Given the description of an element on the screen output the (x, y) to click on. 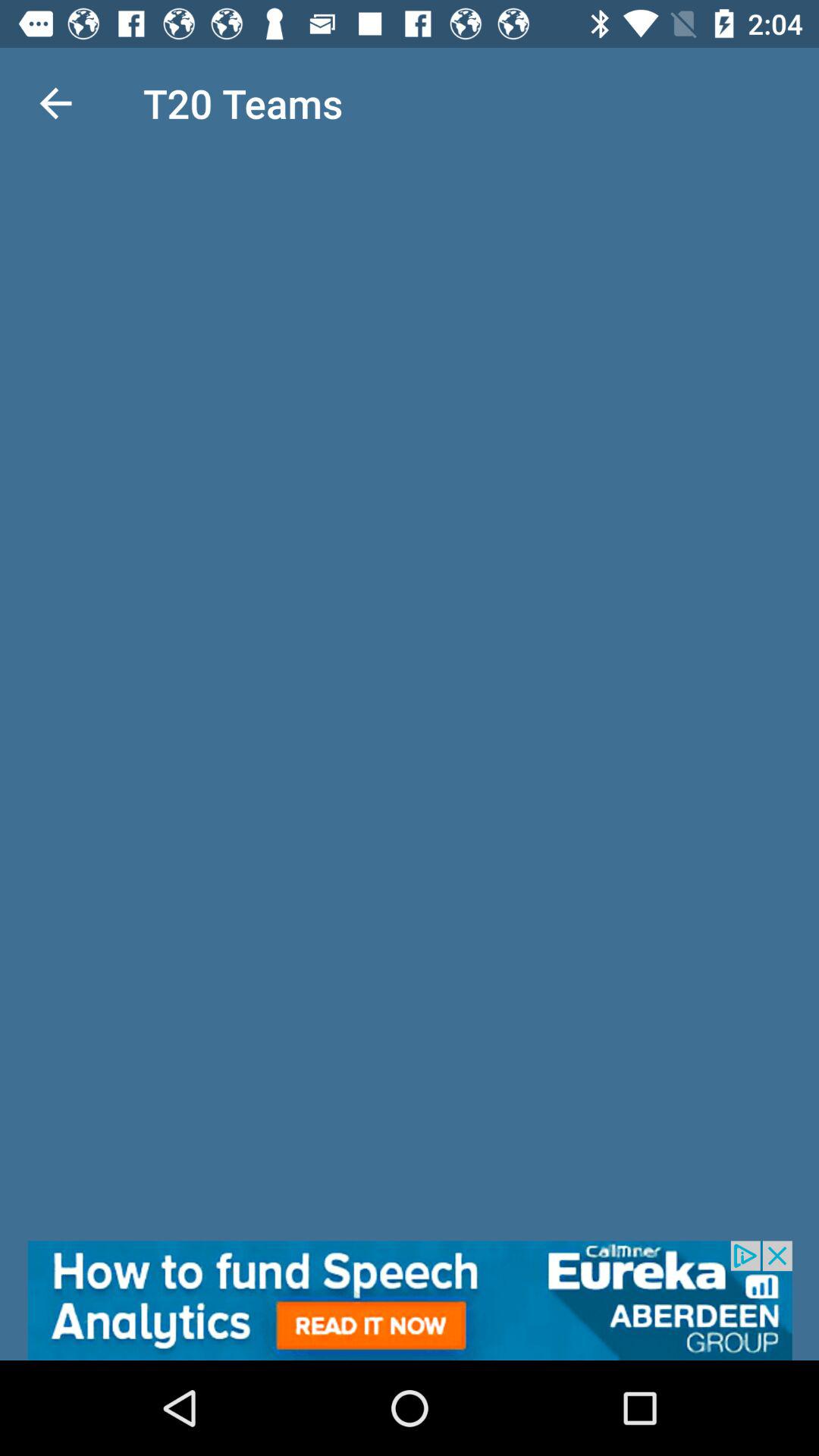
showing advertisements (409, 1300)
